Given the description of an element on the screen output the (x, y) to click on. 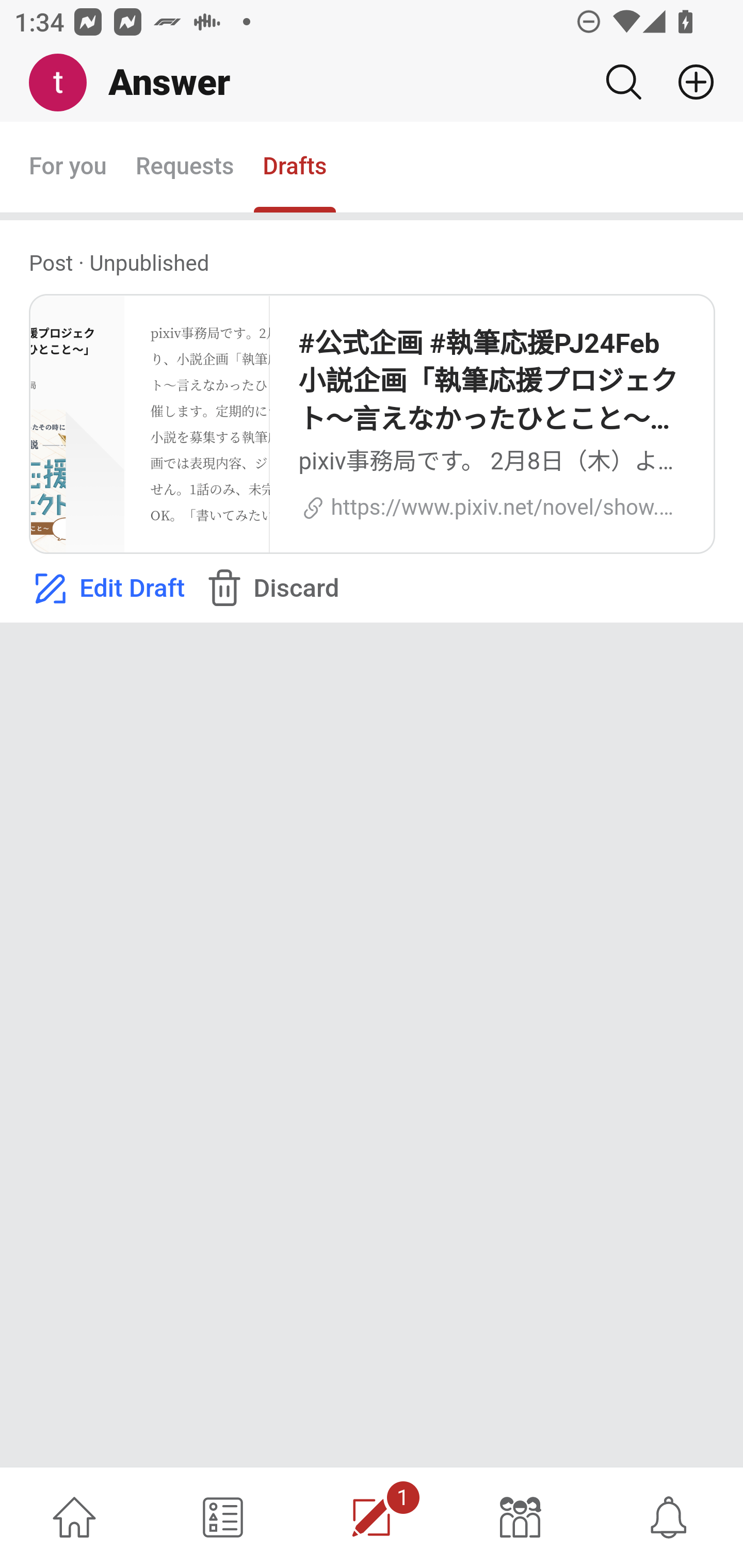
Me (64, 83)
Search (623, 82)
Add (688, 82)
For you (68, 167)
Requests (183, 167)
Drafts (295, 167)
Edit Draft (105, 588)
Discard (270, 588)
